Given the description of an element on the screen output the (x, y) to click on. 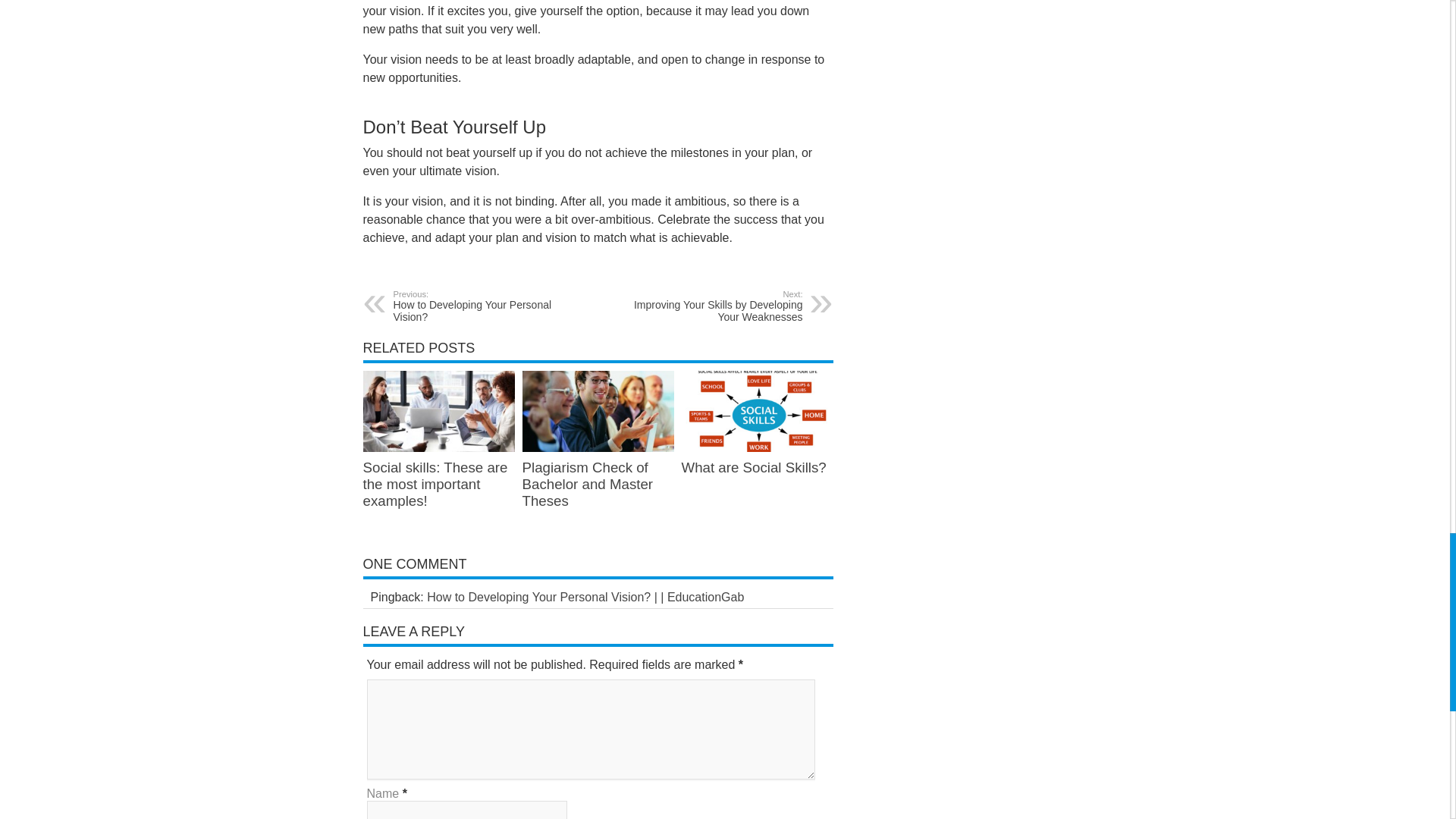
What are Social Skills? (753, 467)
Social skills: These are the most important examples! (434, 483)
Plagiarism Check of Bachelor and Master Theses (485, 305)
